Given the description of an element on the screen output the (x, y) to click on. 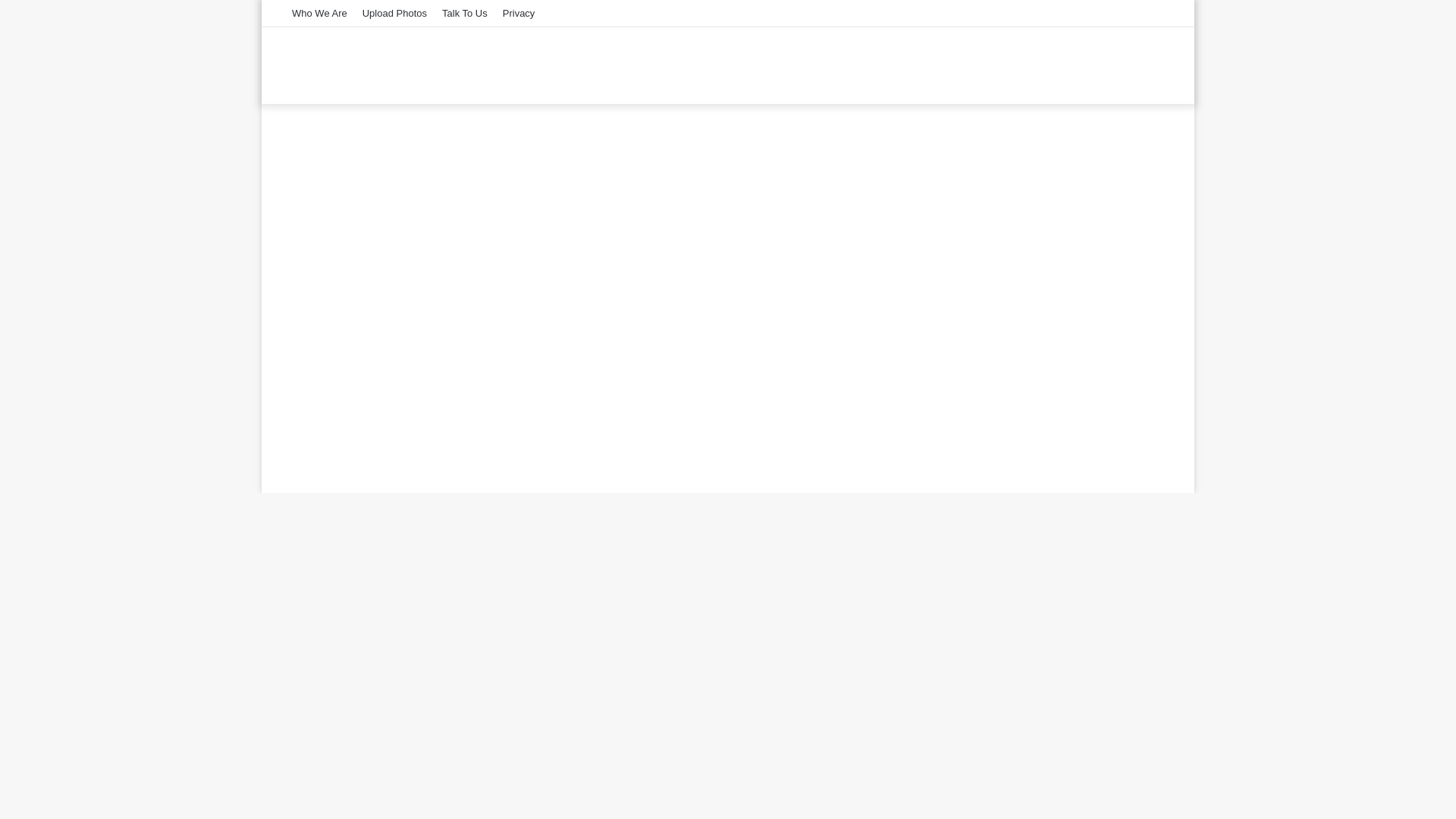
Talk To Us (464, 13)
Privacy (519, 13)
Who We Are (319, 13)
Upload Photos (394, 13)
